Given the description of an element on the screen output the (x, y) to click on. 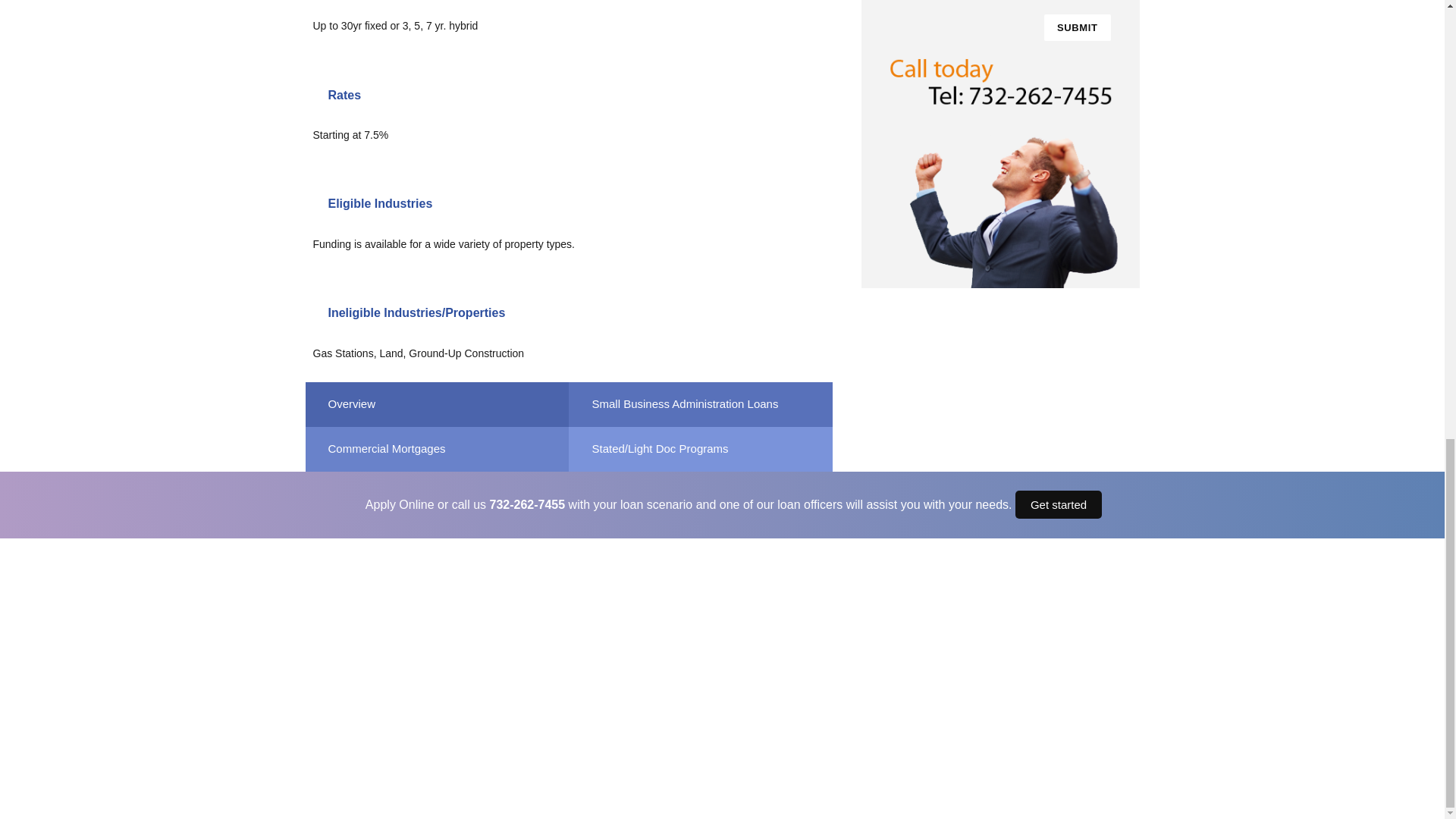
Our Advantage (362, 680)
Submit (1076, 27)
Contact us (352, 722)
Commercial Mortgages (436, 448)
Home (341, 616)
Small Business Administration Loans (700, 403)
About us (348, 637)
Overview (436, 403)
Get started (1058, 504)
Apply Online (357, 701)
